Given the description of an element on the screen output the (x, y) to click on. 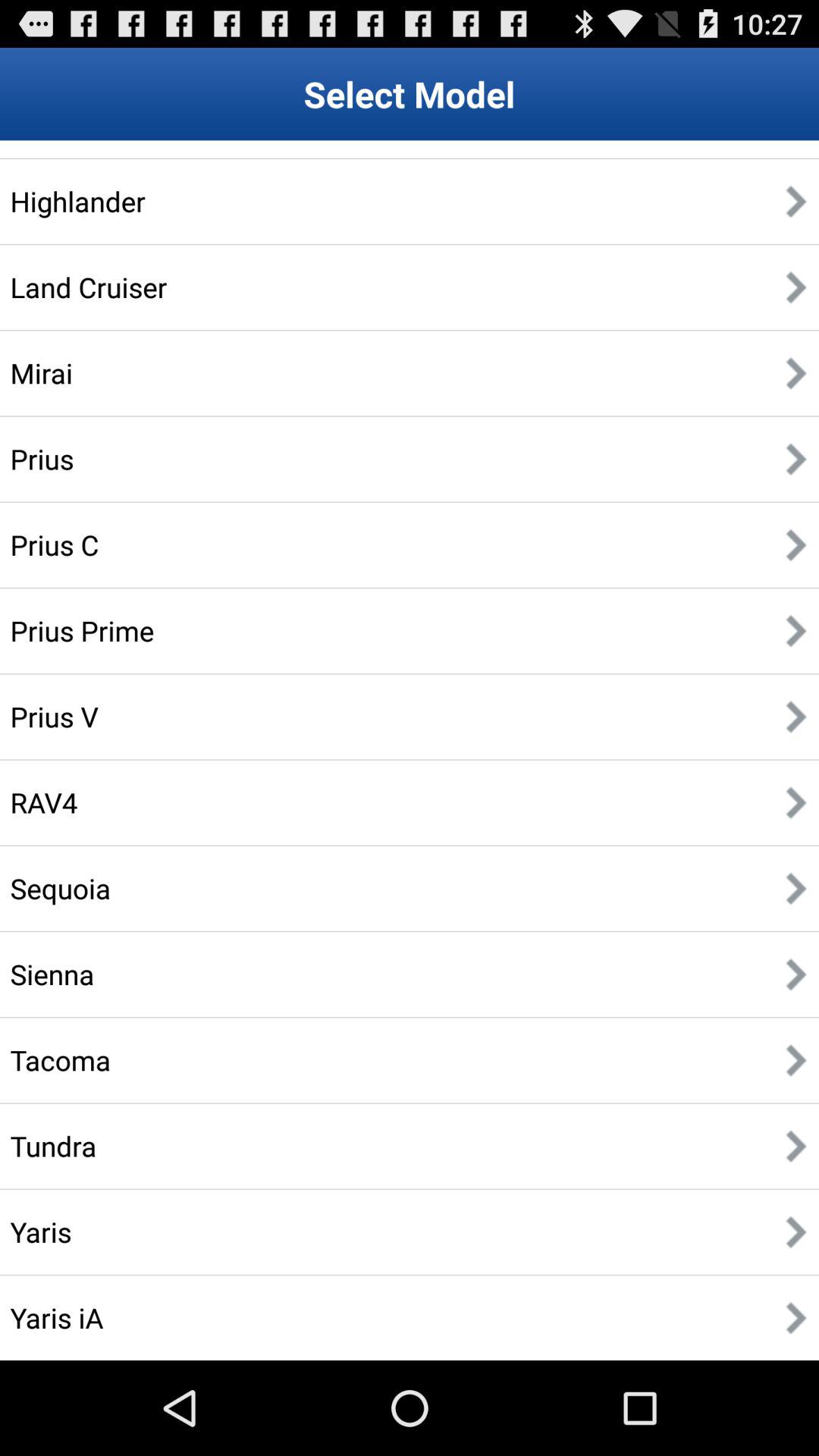
turn off the icon above rav4 icon (54, 716)
